Given the description of an element on the screen output the (x, y) to click on. 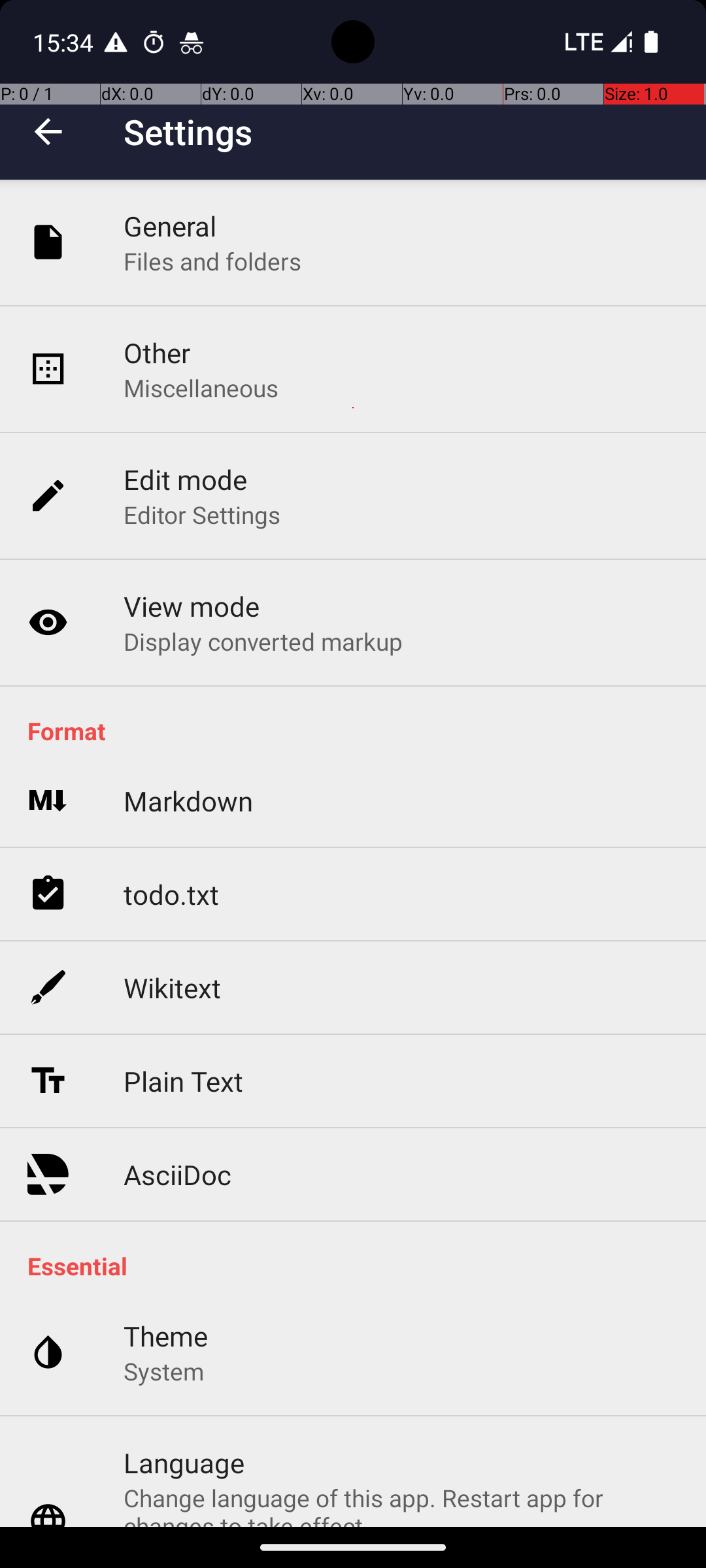
Essential Element type: android.widget.TextView (359, 1265)
General Element type: android.widget.TextView (170, 225)
Files and folders Element type: android.widget.TextView (212, 260)
Other Element type: android.widget.TextView (156, 352)
Miscellaneous Element type: android.widget.TextView (200, 387)
Editor Settings Element type: android.widget.TextView (202, 514)
Display converted markup Element type: android.widget.TextView (263, 640)
Theme Element type: android.widget.TextView (165, 1335)
System Element type: android.widget.TextView (163, 1370)
Language Element type: android.widget.TextView (183, 1462)
Change language of this app. Restart app for changes to take effect

Afrikaans (Afrikaans) Element type: android.widget.TextView (400, 1503)
